Given the description of an element on the screen output the (x, y) to click on. 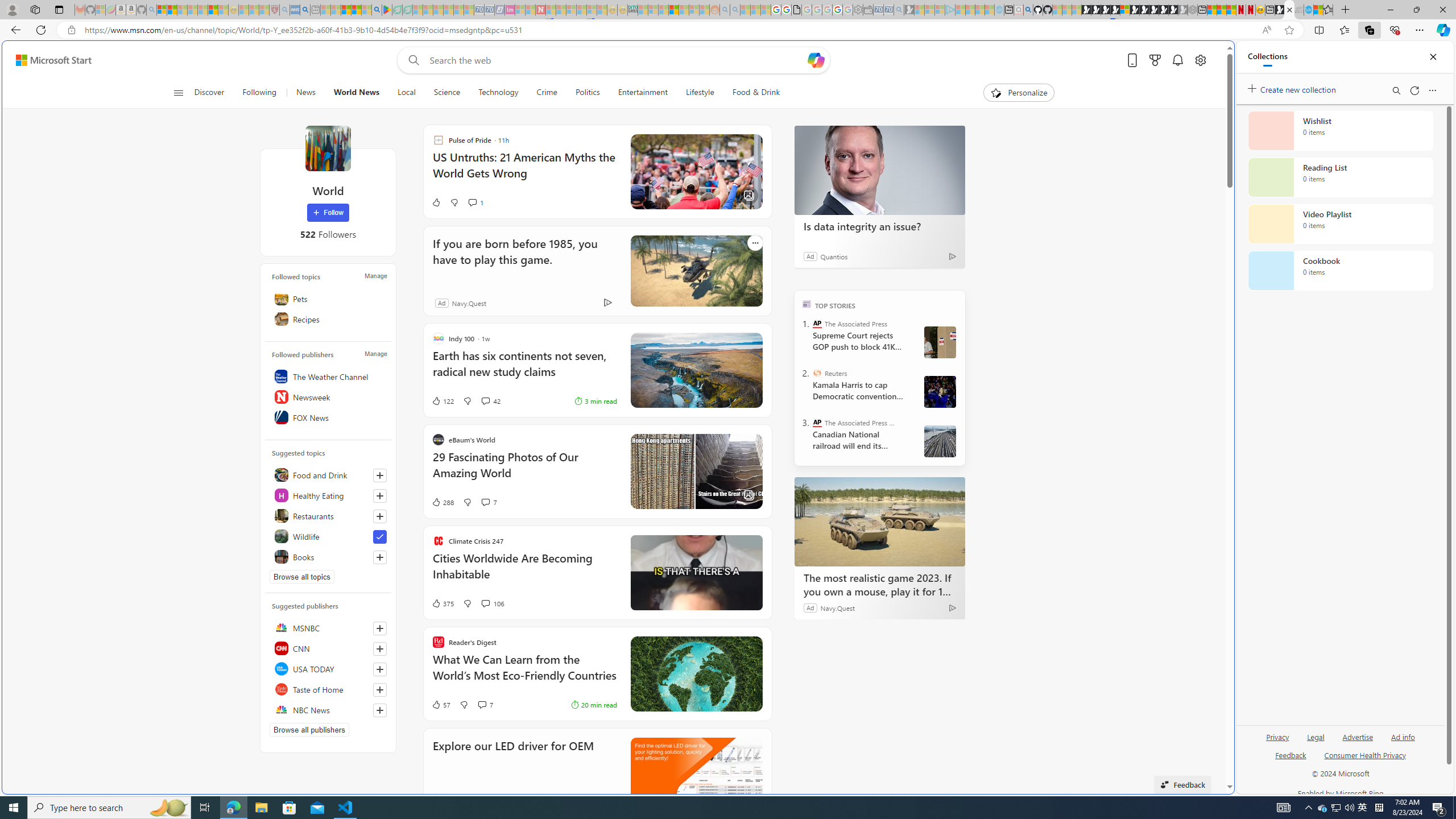
Is data integrity an issue? (879, 226)
Earth has six continents not seven, radical new study claims (524, 369)
utah sues federal government - Search (304, 9)
